Given the description of an element on the screen output the (x, y) to click on. 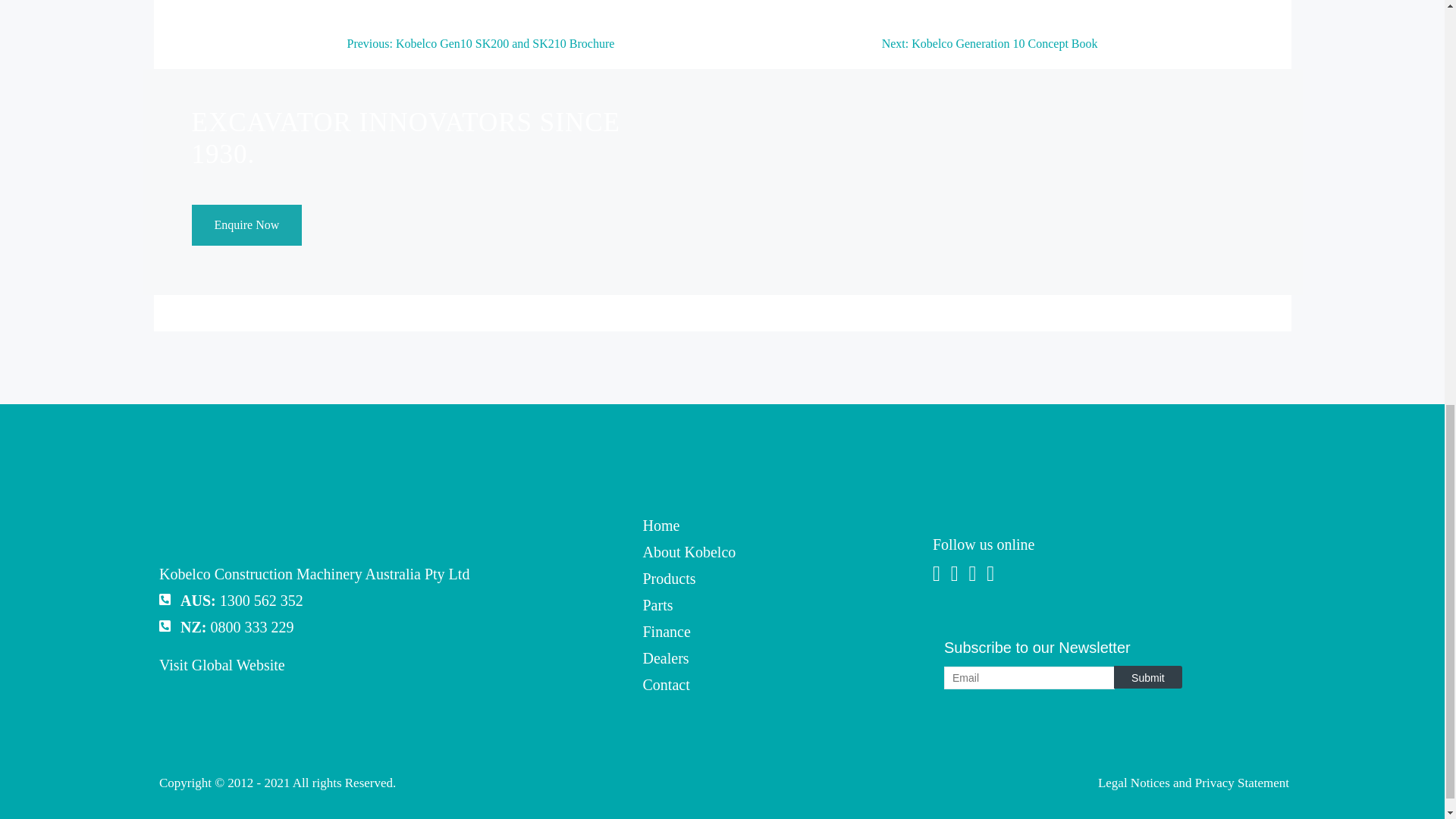
AUS Phone Number (260, 600)
NZ Phone Number (251, 627)
Submit (1147, 676)
To read the full Trade Earthmovers review, click here  (527, 2)
Kobelco (212, 535)
Enquire Now (245, 224)
Next: Kobelco Generation 10 Concept Book (989, 48)
Previous: Kobelco Gen10 SK200 and SK210 Brochure (480, 48)
